Given the description of an element on the screen output the (x, y) to click on. 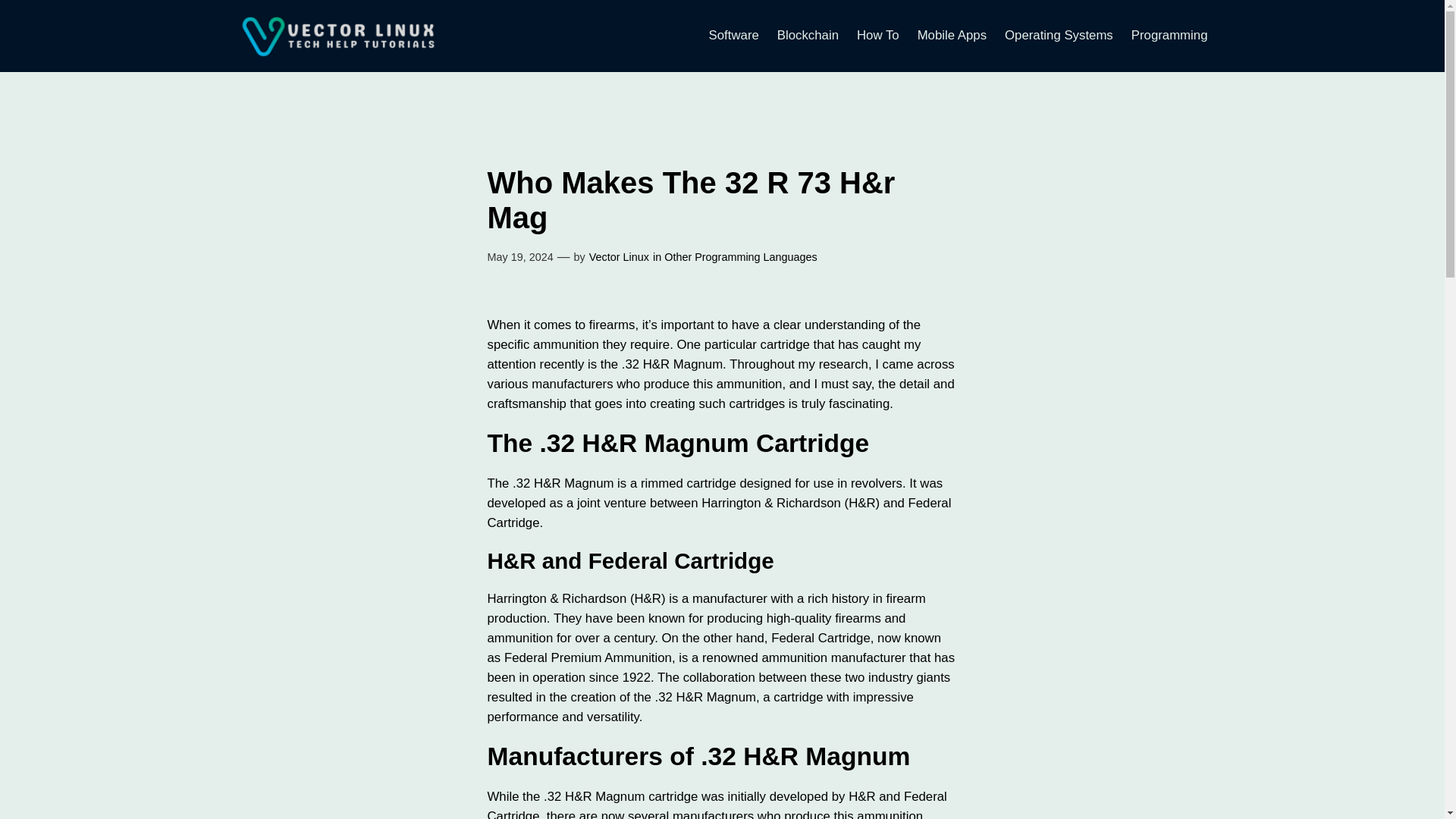
Other Programming Languages (739, 256)
Operating Systems (1058, 35)
May 19, 2024 (519, 256)
Mobile Apps (952, 35)
Software (733, 35)
Vector Linux (619, 256)
Programming (1169, 35)
How To (878, 35)
Blockchain (807, 35)
